Given the description of an element on the screen output the (x, y) to click on. 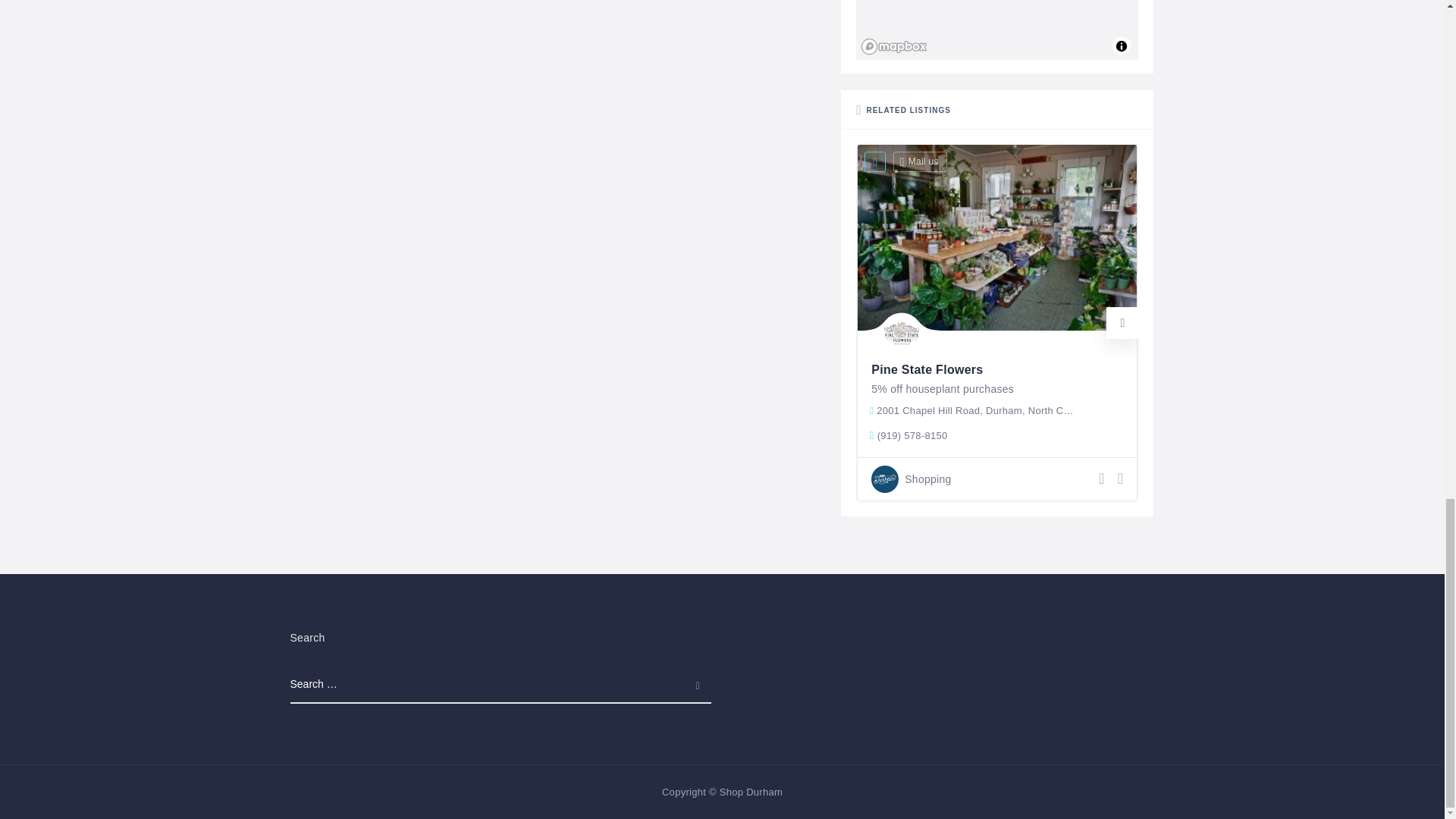
Toggle attribution (1121, 45)
